Given the description of an element on the screen output the (x, y) to click on. 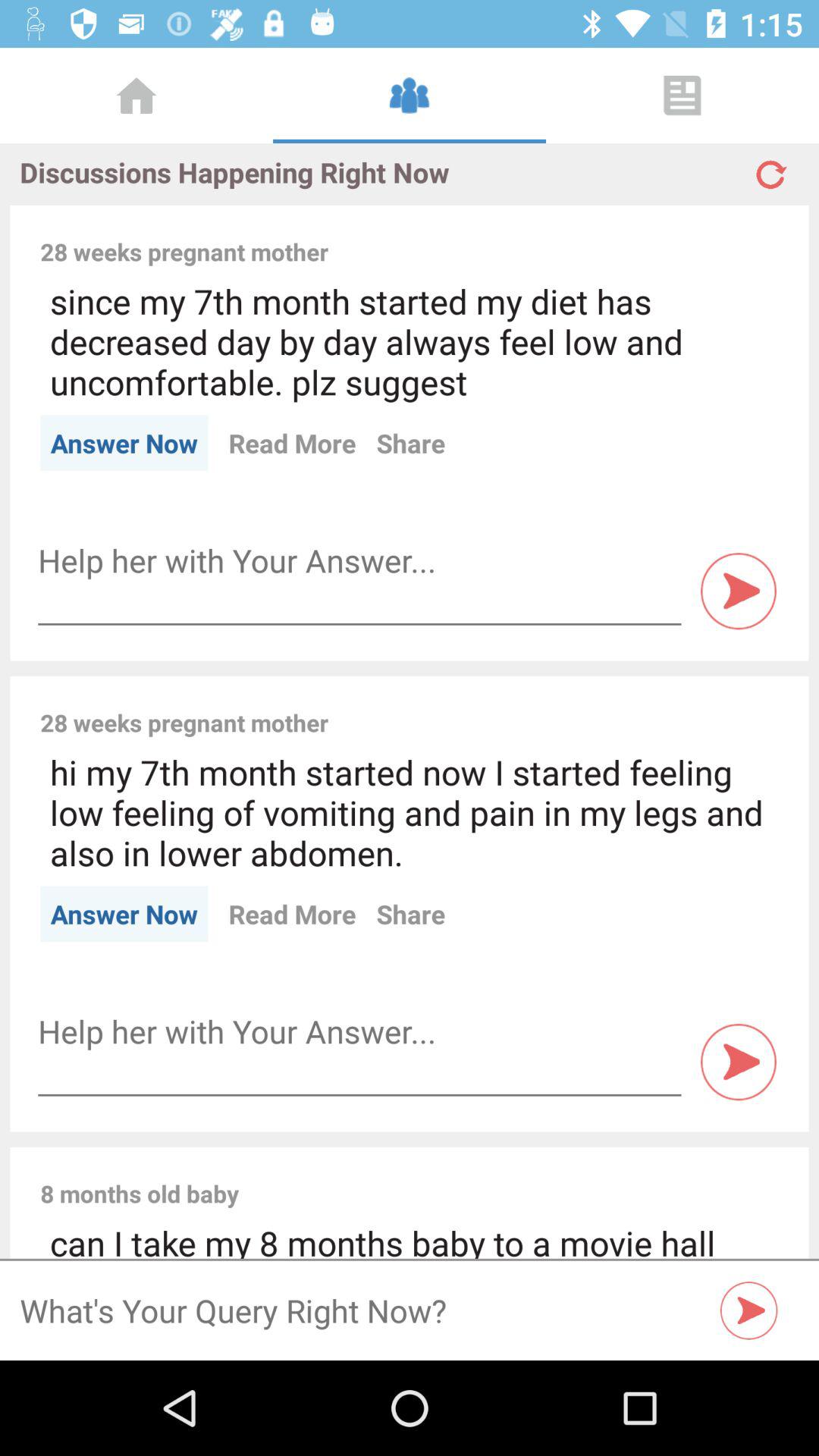
turn on the item next to the 28 weeks pregnant item (563, 706)
